Given the description of an element on the screen output the (x, y) to click on. 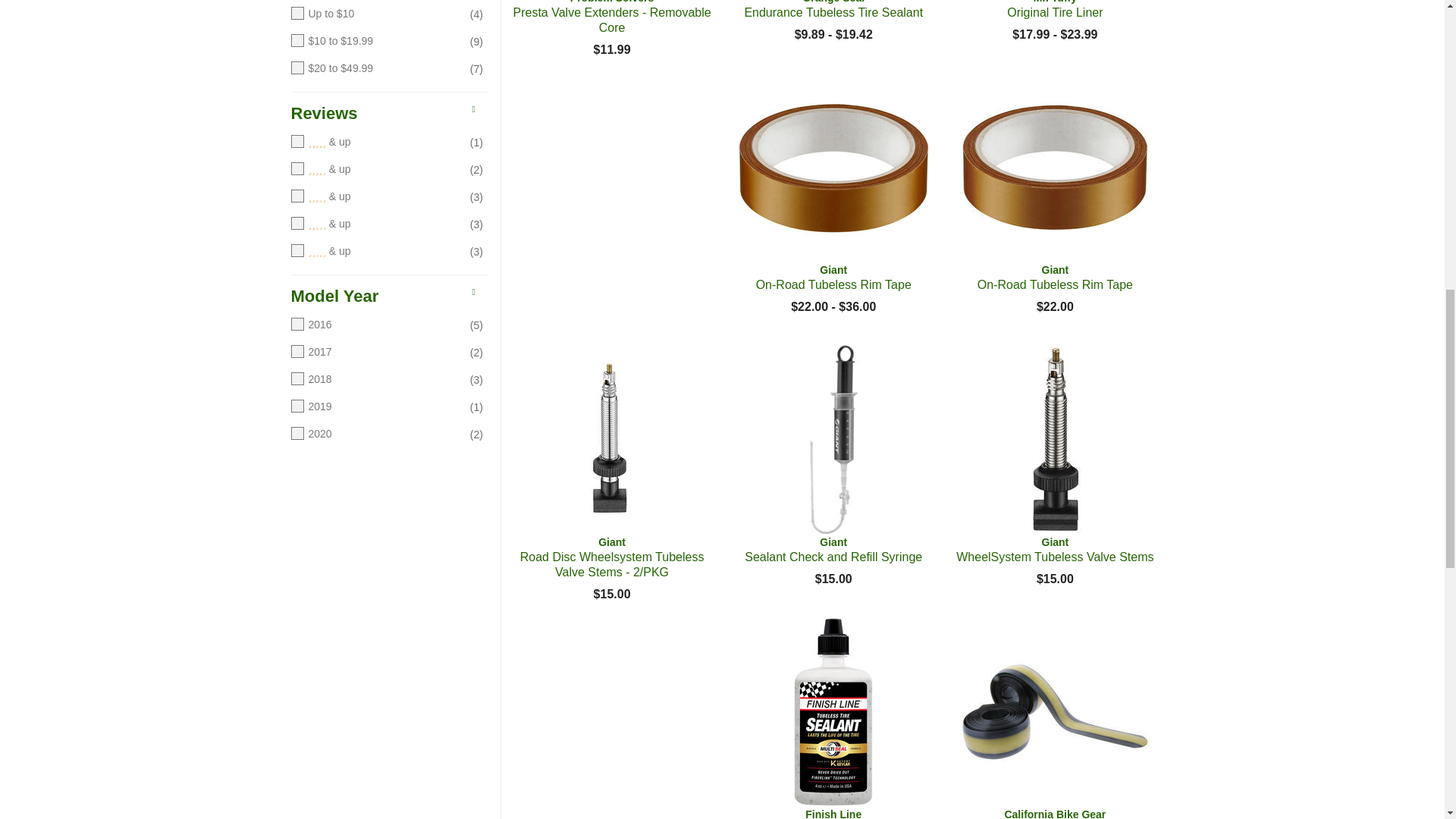
3 (374, 196)
2 (374, 224)
1 (374, 251)
4 (374, 169)
5 (374, 142)
